Given the description of an element on the screen output the (x, y) to click on. 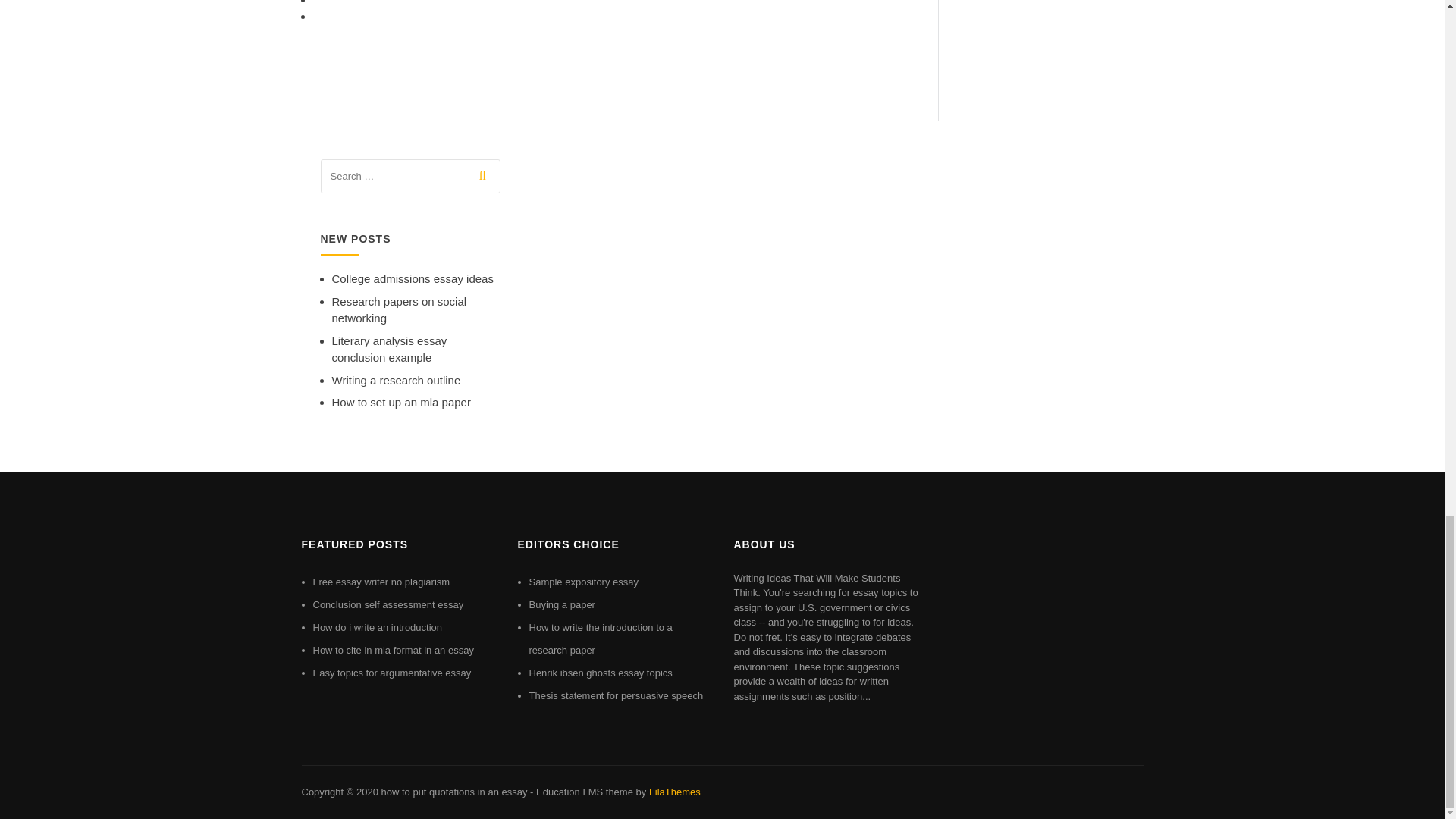
Literary analysis essay conclusion example (388, 349)
How do i write an introduction (377, 627)
Easy topics for argumentative essay (391, 672)
how to put quotations in an essay (453, 791)
College admissions essay ideas (412, 278)
Conclusion self assessment essay (388, 604)
Buying a paper (562, 604)
How to write the introduction to a research paper (600, 638)
How to cite in mla format in an essay (393, 650)
how to put quotations in an essay (453, 791)
